Given the description of an element on the screen output the (x, y) to click on. 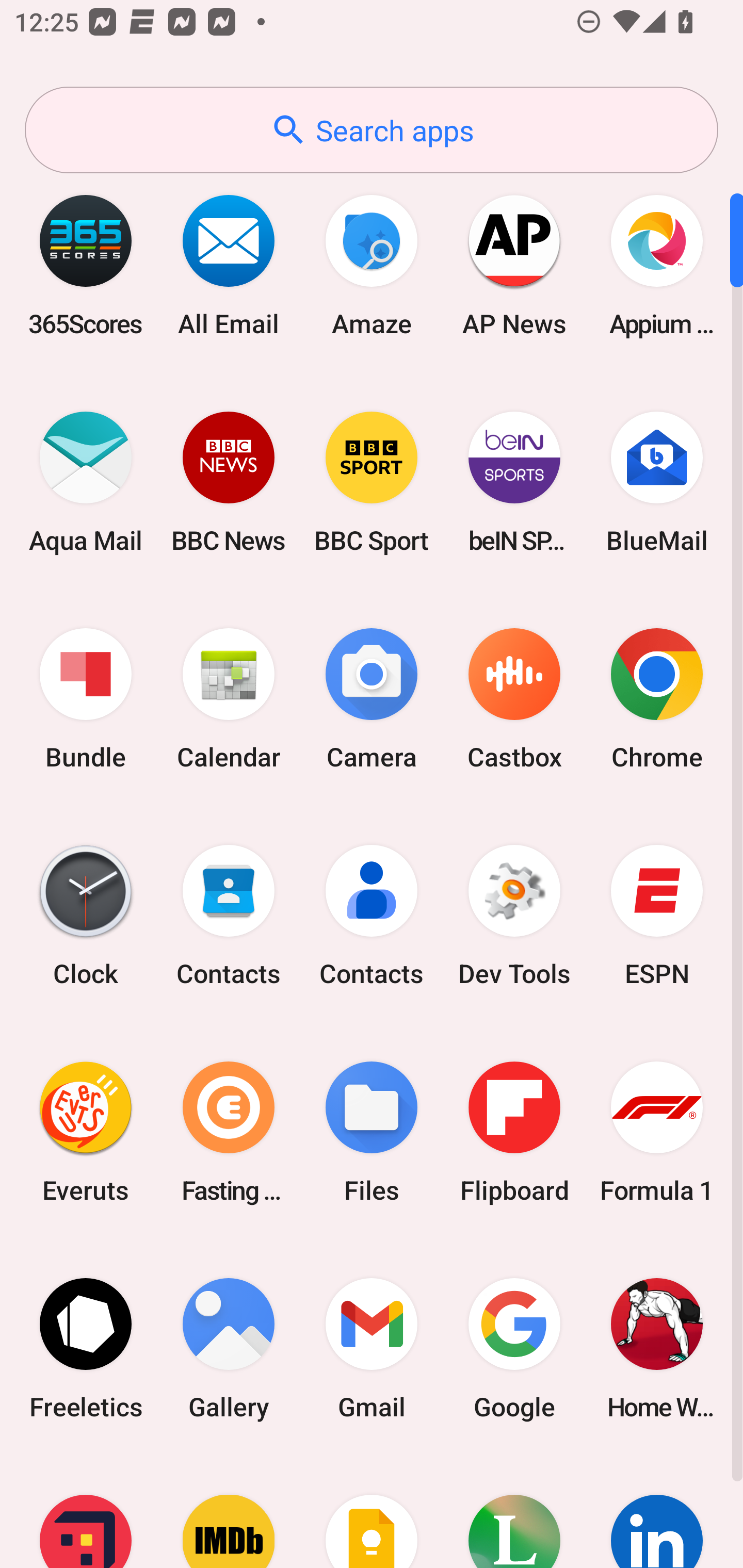
  Search apps (371, 130)
365Scores (85, 264)
All Email (228, 264)
Amaze (371, 264)
AP News (514, 264)
Appium Settings (656, 264)
Aqua Mail (85, 482)
BBC News (228, 482)
BBC Sport (371, 482)
beIN SPORTS (514, 482)
BlueMail (656, 482)
Bundle (85, 699)
Calendar (228, 699)
Camera (371, 699)
Castbox (514, 699)
Chrome (656, 699)
Clock (85, 915)
Contacts (228, 915)
Contacts (371, 915)
Dev Tools (514, 915)
ESPN (656, 915)
Everuts (85, 1131)
Fasting Coach (228, 1131)
Files (371, 1131)
Flipboard (514, 1131)
Formula 1 (656, 1131)
Freeletics (85, 1348)
Gallery (228, 1348)
Gmail (371, 1348)
Google (514, 1348)
Home Workout (656, 1348)
Hotels.com (85, 1512)
IMDb (228, 1512)
Keep Notes (371, 1512)
Lifesum (514, 1512)
LinkedIn (656, 1512)
